Given the description of an element on the screen output the (x, y) to click on. 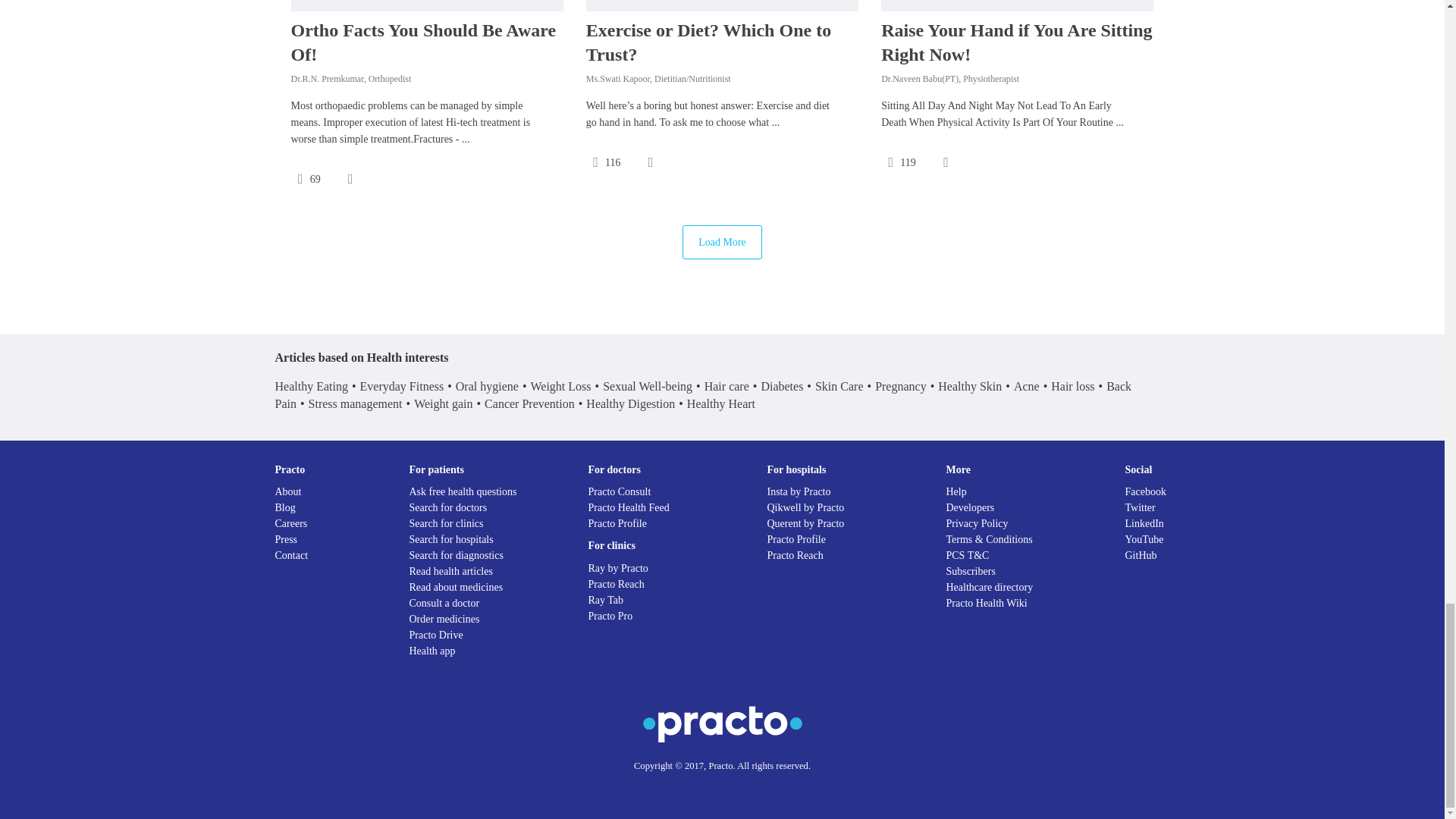
Press (286, 539)
Contact (291, 555)
Practo Drive (436, 634)
Read Health Articles (451, 571)
Careers (291, 523)
Order medicines (444, 618)
Consult a doctor (444, 603)
Blog (285, 507)
About (288, 491)
Search for clinics (446, 523)
Ask free health questions (462, 491)
Search for diagnostics (456, 555)
Search for doctors (448, 507)
Read about medicines (456, 586)
Search for hospitals (451, 539)
